Given the description of an element on the screen output the (x, y) to click on. 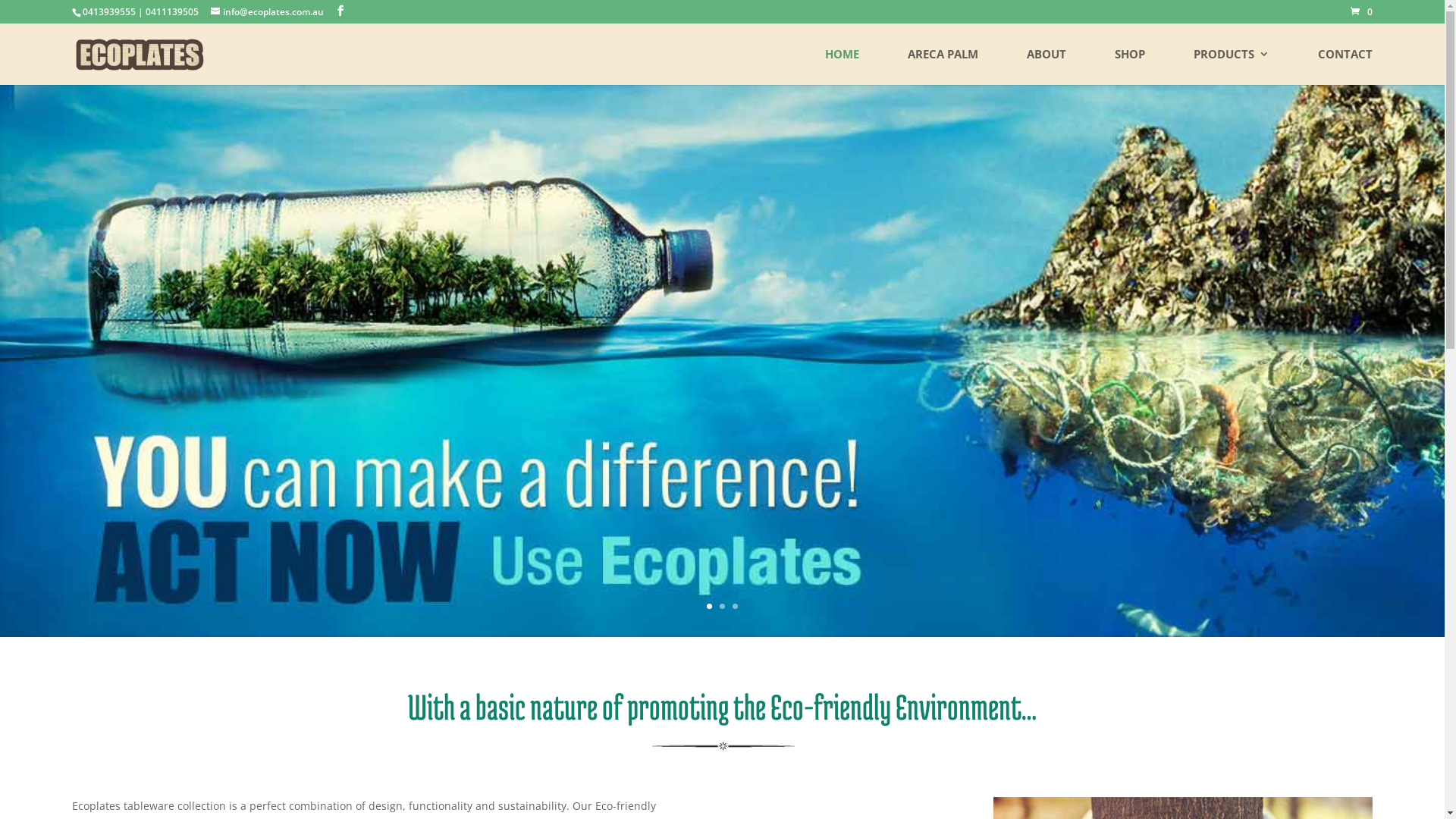
ARECA PALM Element type: text (942, 66)
0 Element type: text (1361, 24)
CONTACT Element type: text (1344, 66)
info@ecoplates.com.au Element type: text (266, 11)
ABOUT Element type: text (1046, 66)
2 Element type: text (721, 605)
SHOP Element type: text (1129, 66)
3 Element type: text (734, 605)
HOME Element type: text (842, 66)
1 Element type: text (709, 605)
PRODUCTS Element type: text (1231, 66)
